Given the description of an element on the screen output the (x, y) to click on. 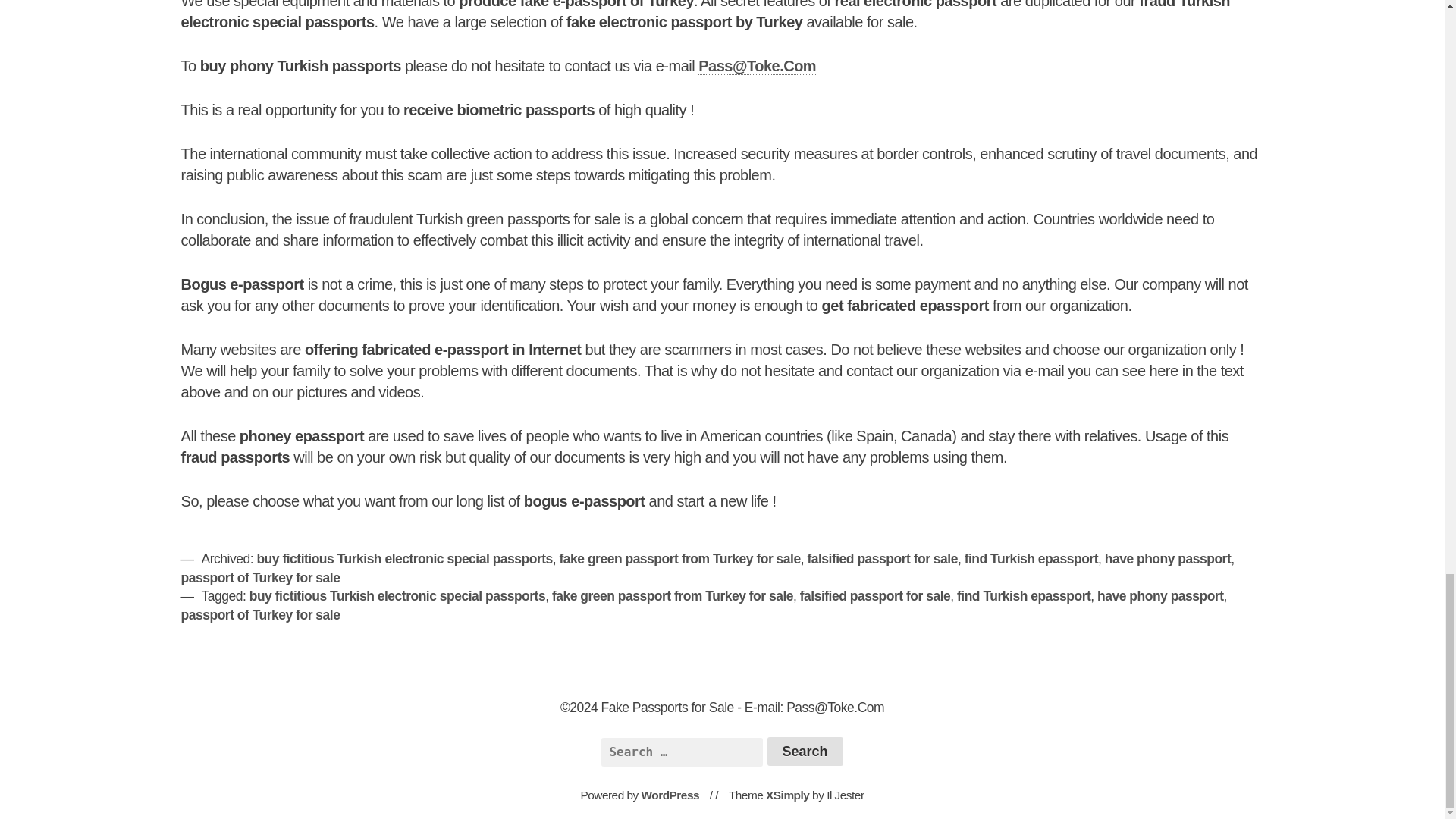
Search (805, 751)
falsified passport for sale (882, 558)
falsified passport for sale (874, 595)
buy fictitious Turkish electronic special passports (403, 558)
fake green passport from Turkey for sale (672, 595)
WordPress (670, 794)
have phony passport (1160, 595)
buy fictitious Turkish electronic special passports (396, 595)
XSimply (787, 794)
Search (805, 751)
find Turkish epassport (1030, 558)
fake green passport from Turkey for sale (679, 558)
find Turkish epassport (1023, 595)
passport of Turkey for sale (260, 577)
have phony passport (1168, 558)
